Given the description of an element on the screen output the (x, y) to click on. 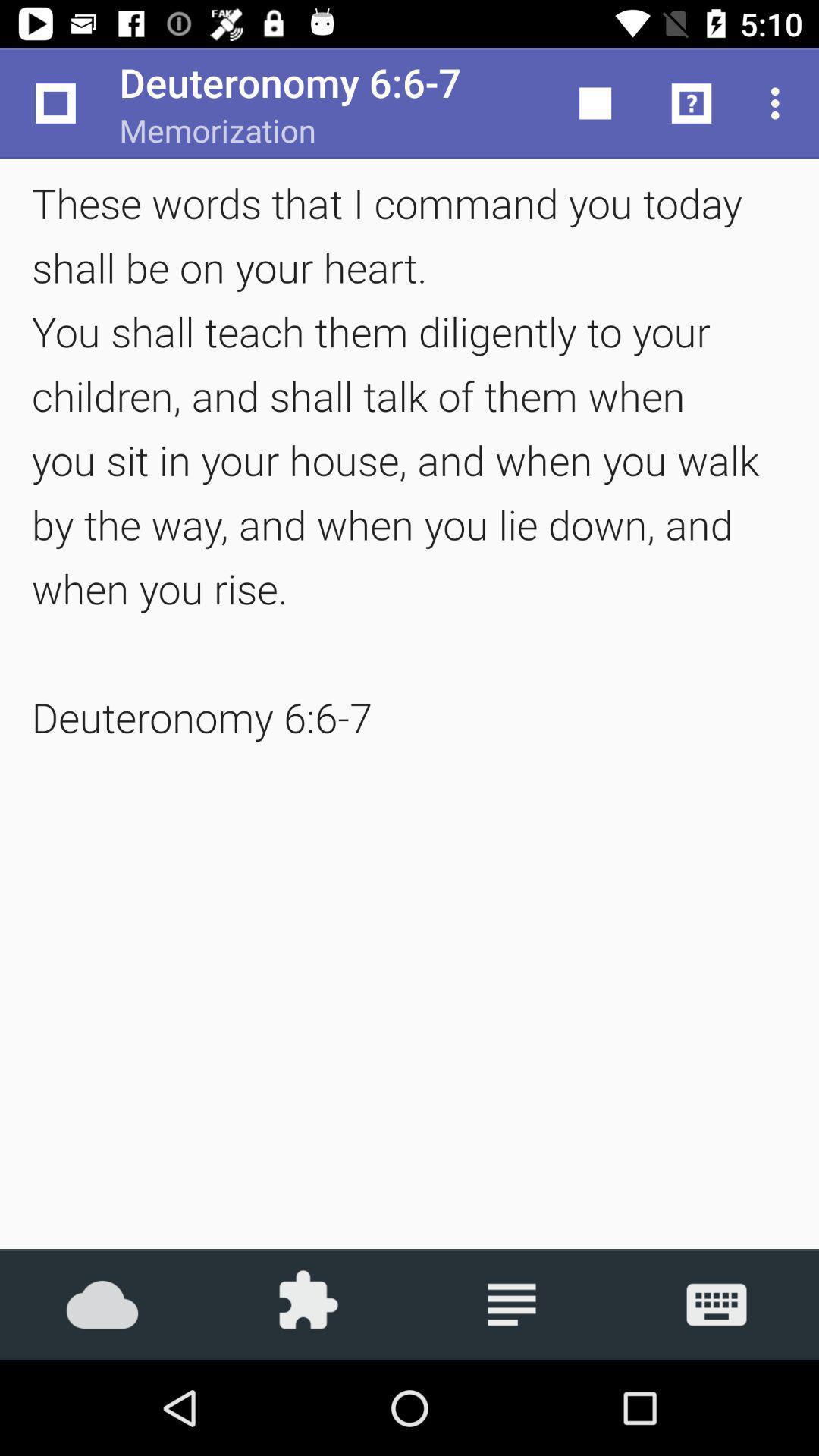
click the item to the right of deuteronomy 6 6 item (595, 103)
